Given the description of an element on the screen output the (x, y) to click on. 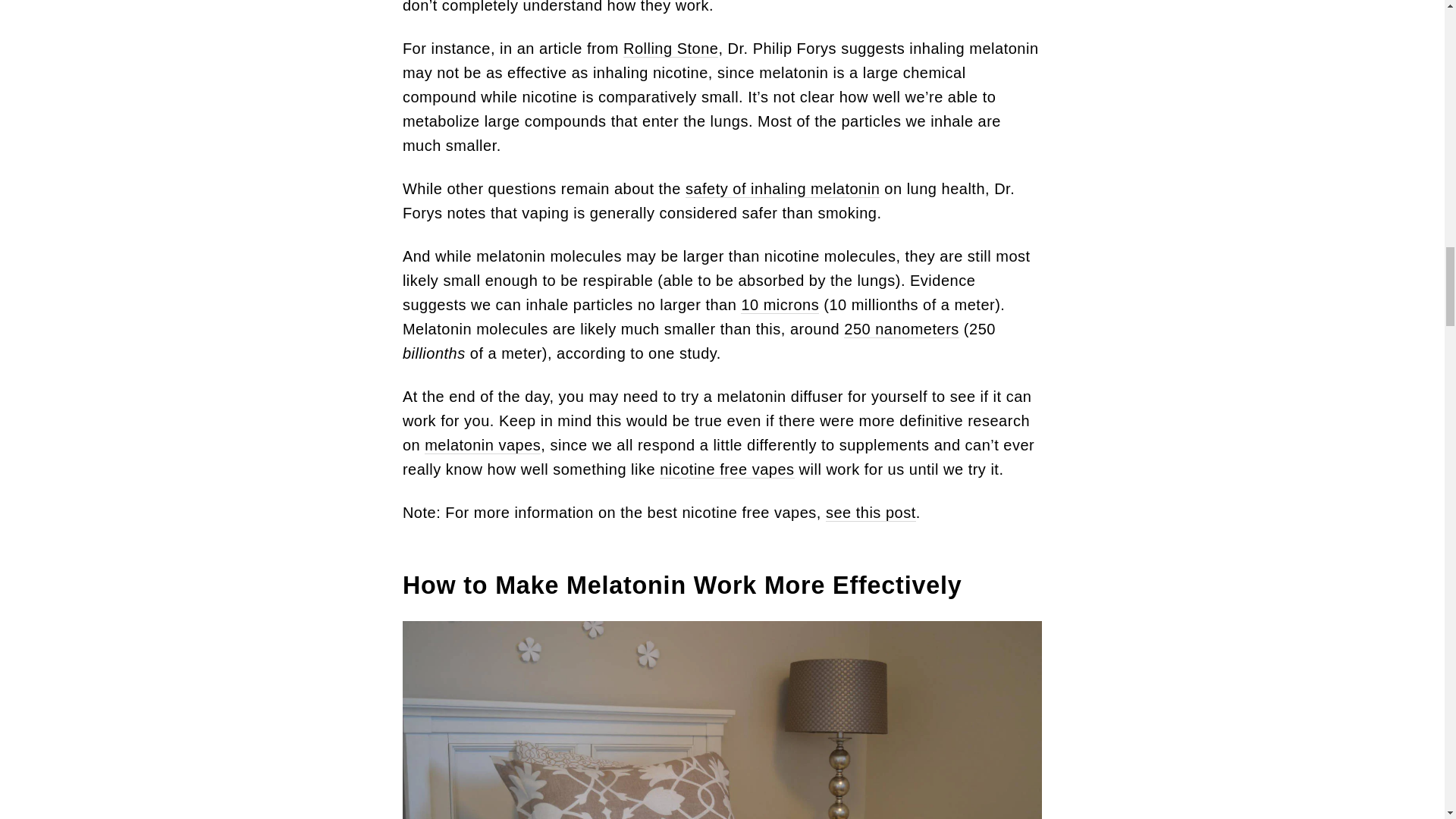
Can Melatonin Vapes Safely Help People Sleep? (670, 48)
Can You Overdose on a Melatonin Vape? (782, 189)
best nicotine free vapes (870, 512)
nicotine free vapes (726, 469)
